Given the description of an element on the screen output the (x, y) to click on. 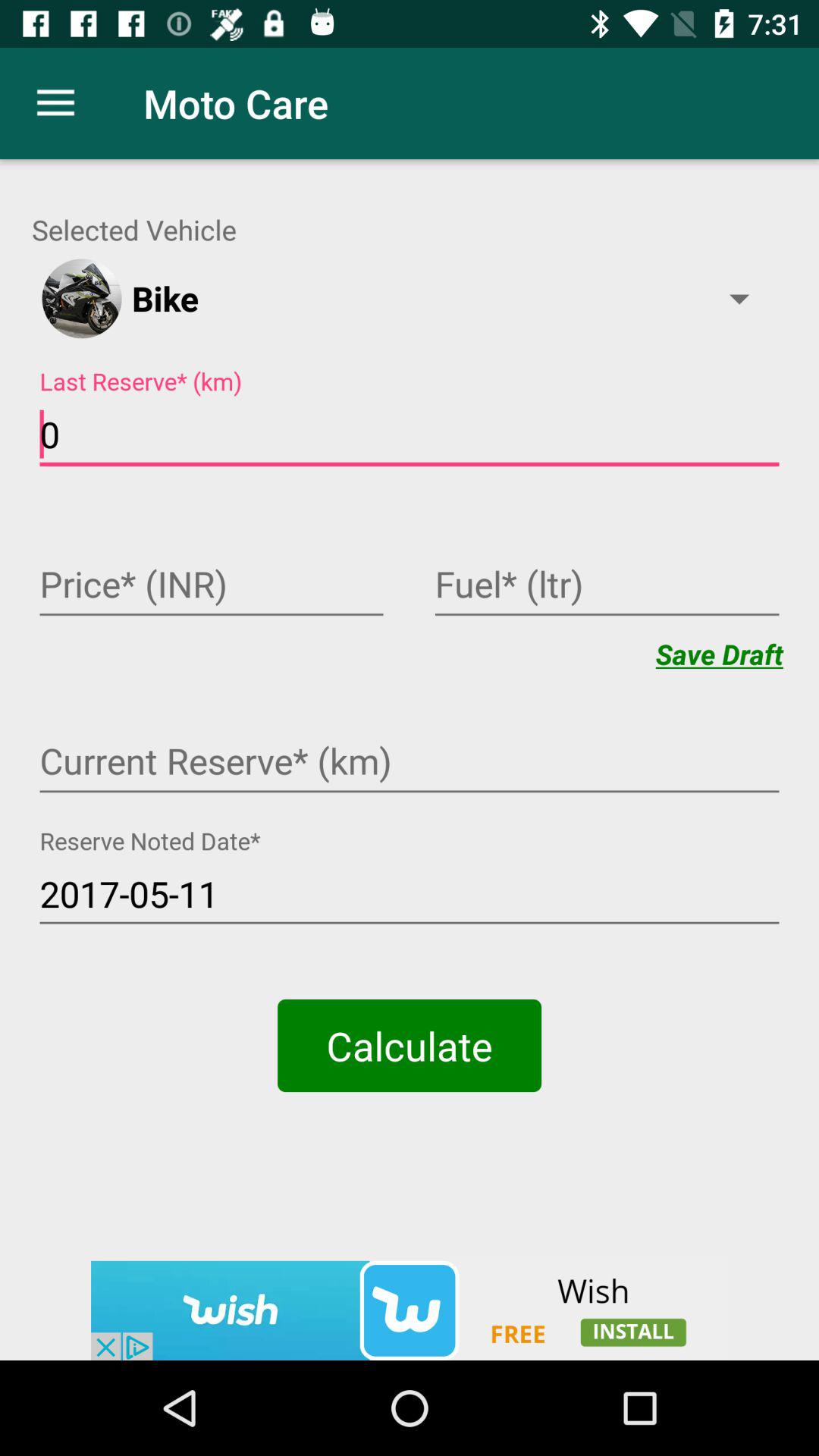
fill the fuel option (607, 586)
